Given the description of an element on the screen output the (x, y) to click on. 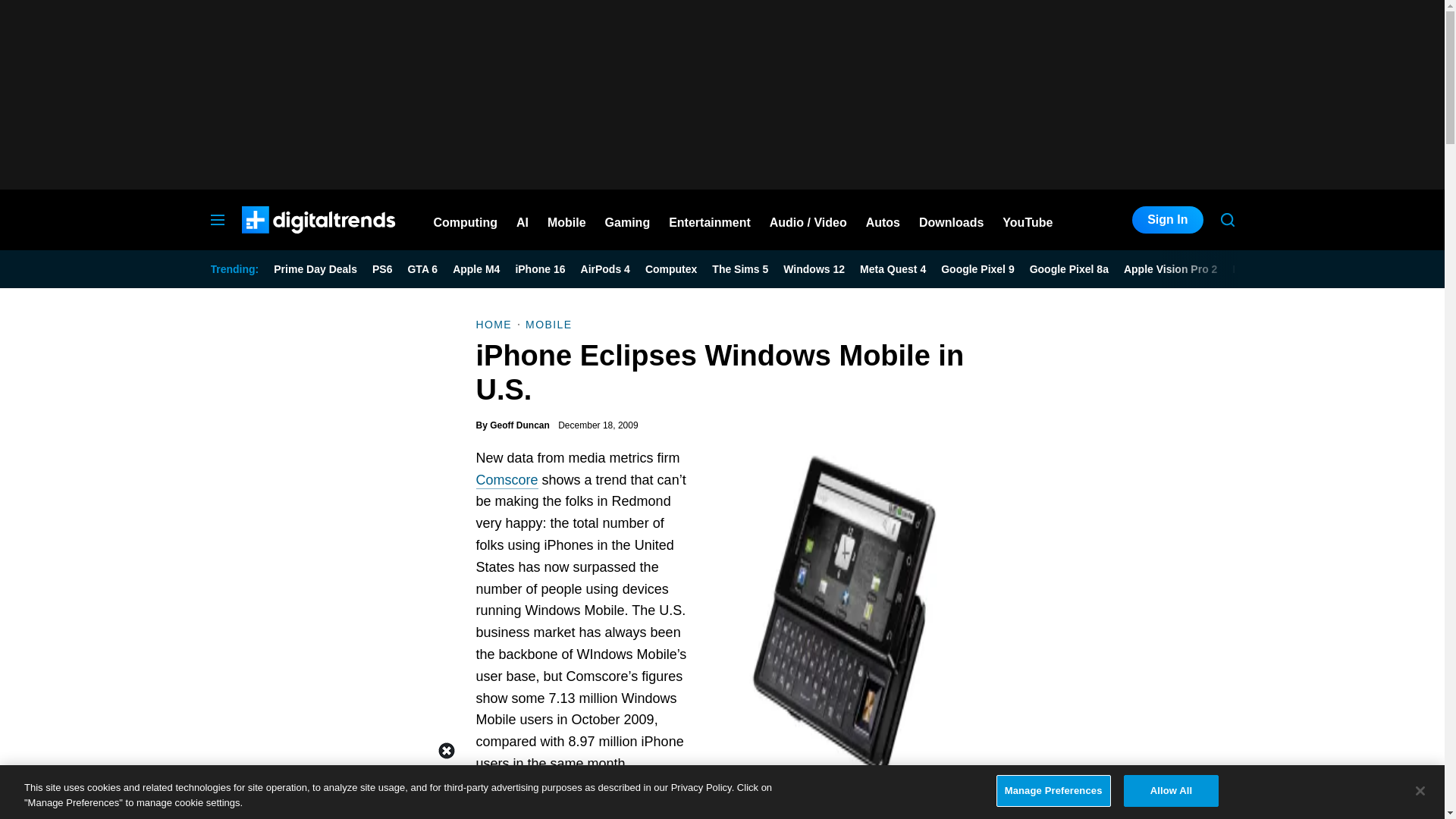
Entertainment (709, 219)
Computing (465, 219)
Downloads (951, 219)
3rd party ad content (721, 785)
Sign In (1167, 219)
3rd party ad content (721, 94)
